Given the description of an element on the screen output the (x, y) to click on. 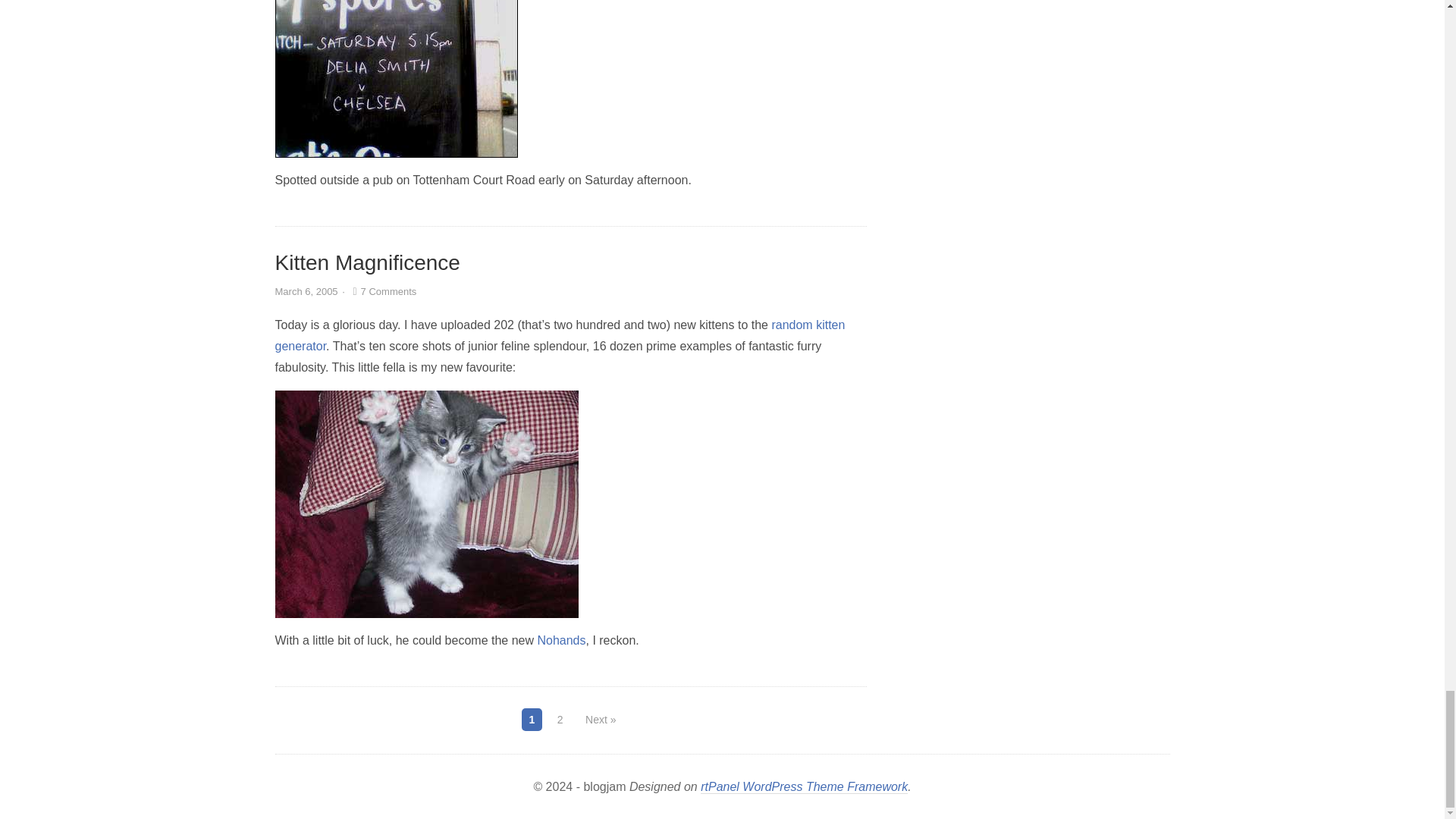
Kitten Magnificence (367, 262)
7 Comments (382, 291)
